Given the description of an element on the screen output the (x, y) to click on. 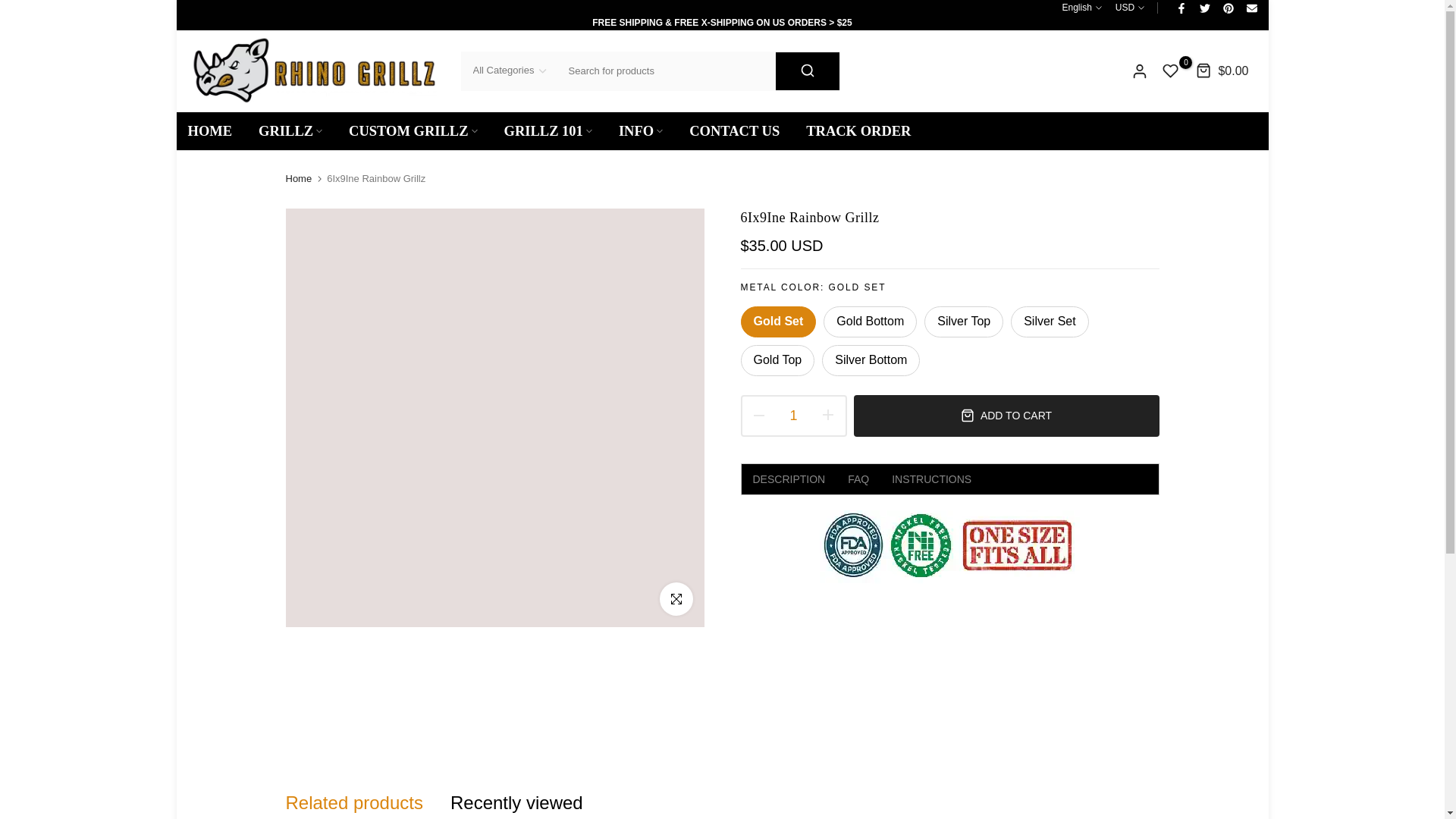
HOME (216, 131)
CONTACT US (735, 131)
GRILLZ 101 (547, 131)
English (1080, 7)
Home (298, 178)
Skip to content (10, 7)
GRILLZ (291, 131)
0 (1170, 71)
ADD TO CART (1005, 415)
USD (1129, 7)
